Given the description of an element on the screen output the (x, y) to click on. 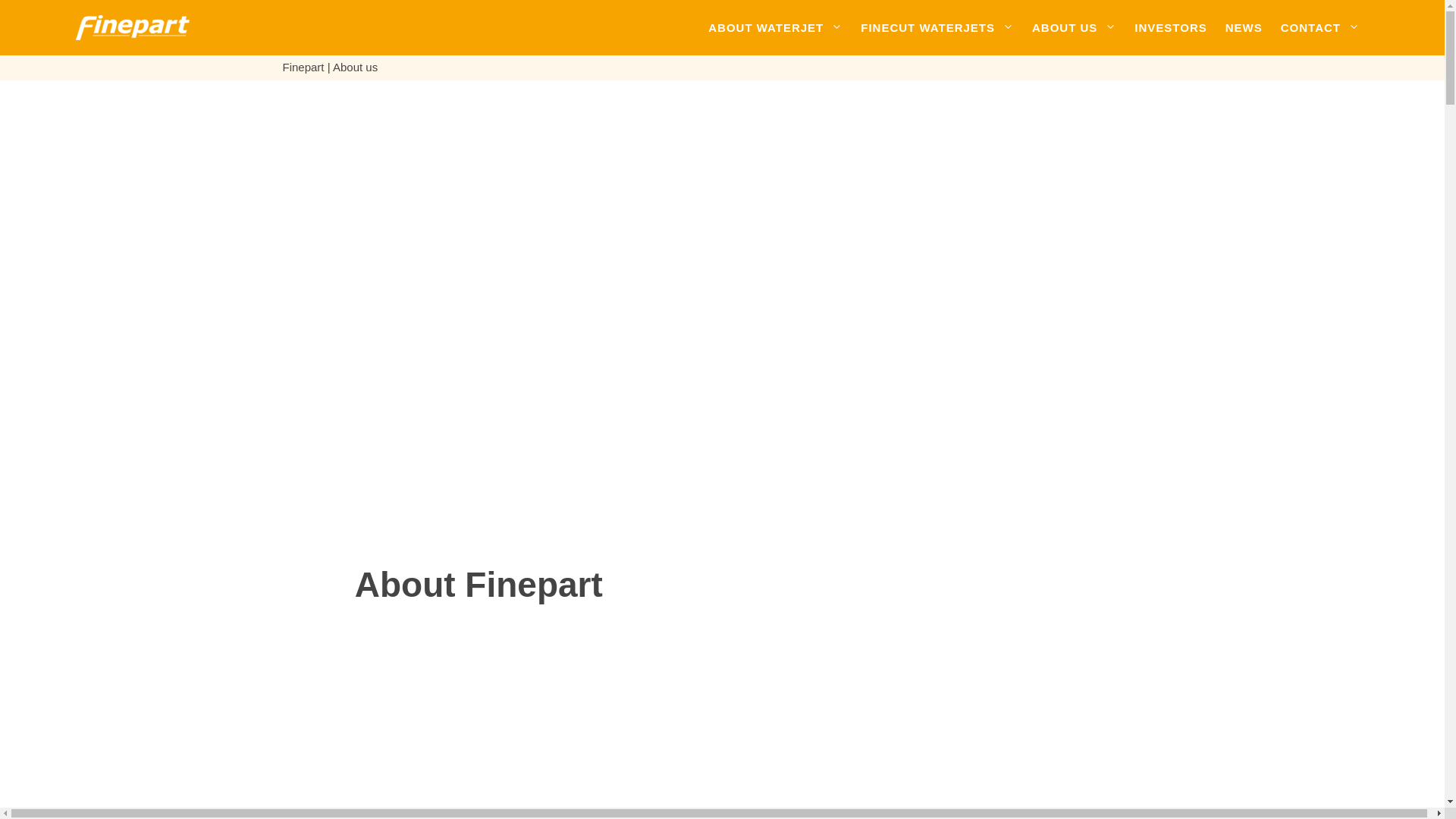
INVESTORS (1170, 27)
ABOUT US (1074, 27)
NEWS (1243, 27)
Finepart (302, 66)
FINECUT WATERJETS (937, 27)
CONTACT (1319, 27)
ABOUT WATERJET (774, 27)
